Given the description of an element on the screen output the (x, y) to click on. 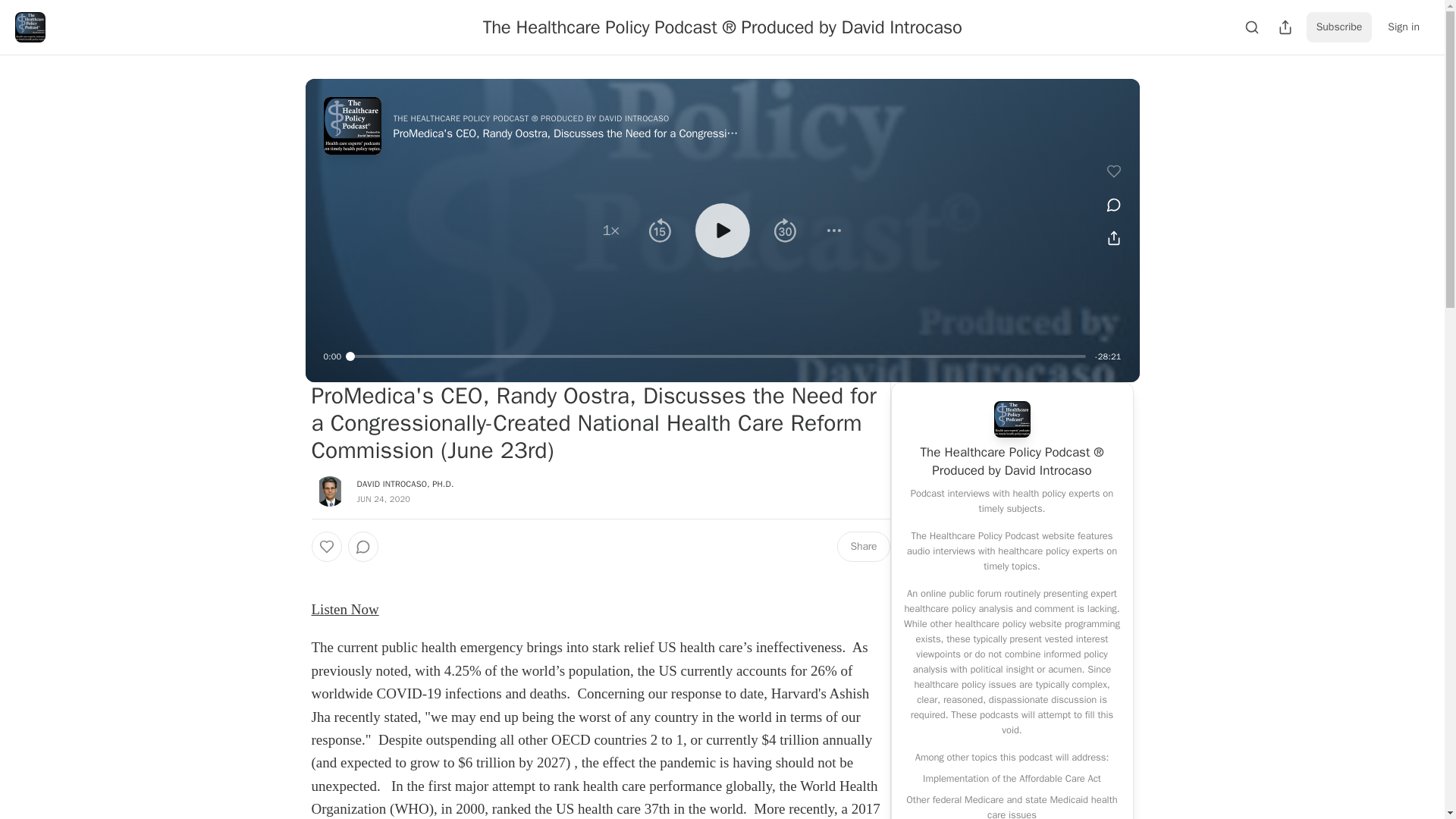
Sign in (1403, 27)
DAVID INTROCASO, PH.D. (404, 483)
Listen Now (344, 609)
Subscribe (1339, 27)
Share (863, 546)
